Given the description of an element on the screen output the (x, y) to click on. 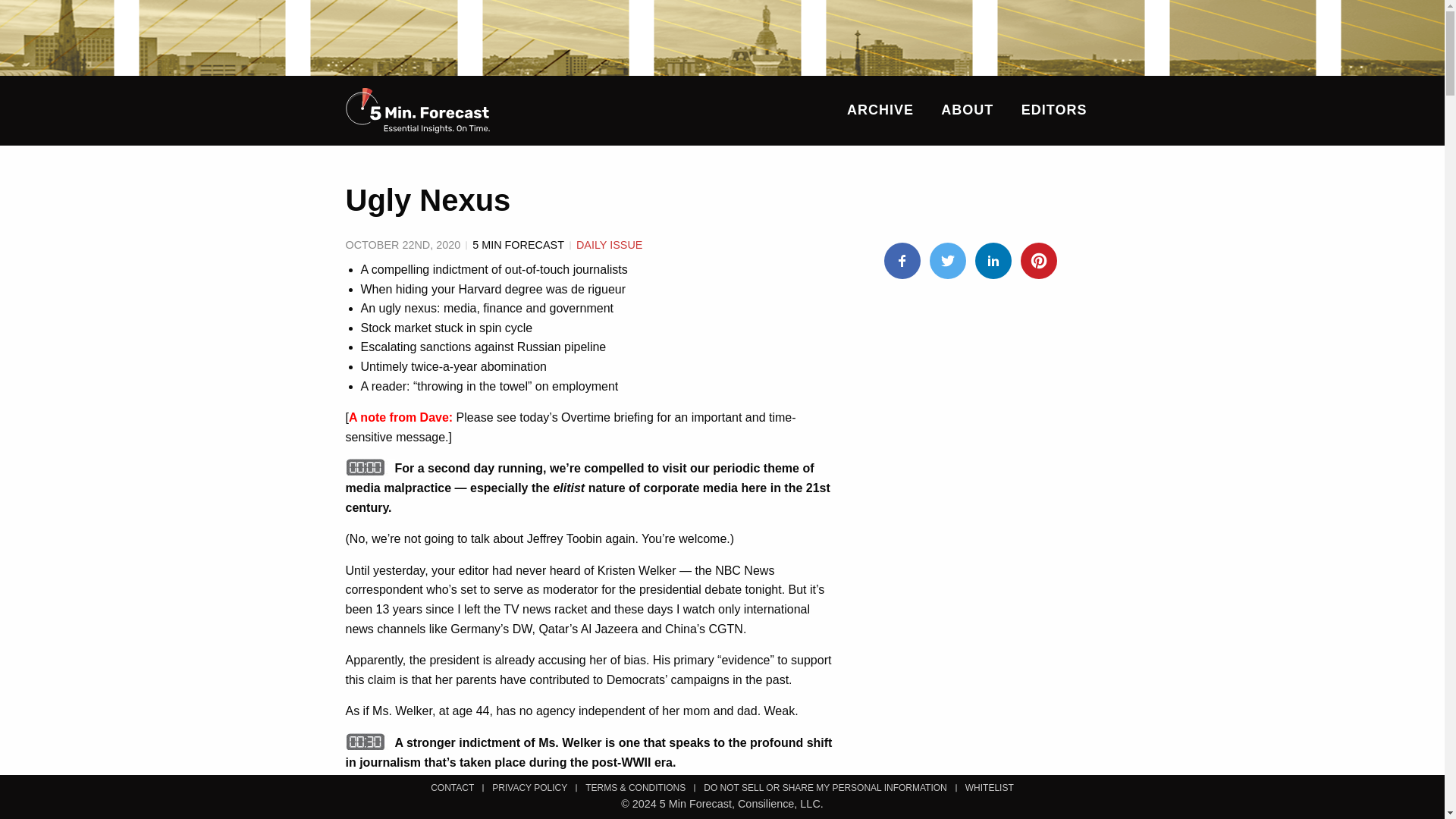
ABOUT (966, 109)
ARCHIVE (880, 109)
DAILY ISSUE (609, 244)
5min Forecast (417, 110)
EDITORS (1054, 109)
